Given the description of an element on the screen output the (x, y) to click on. 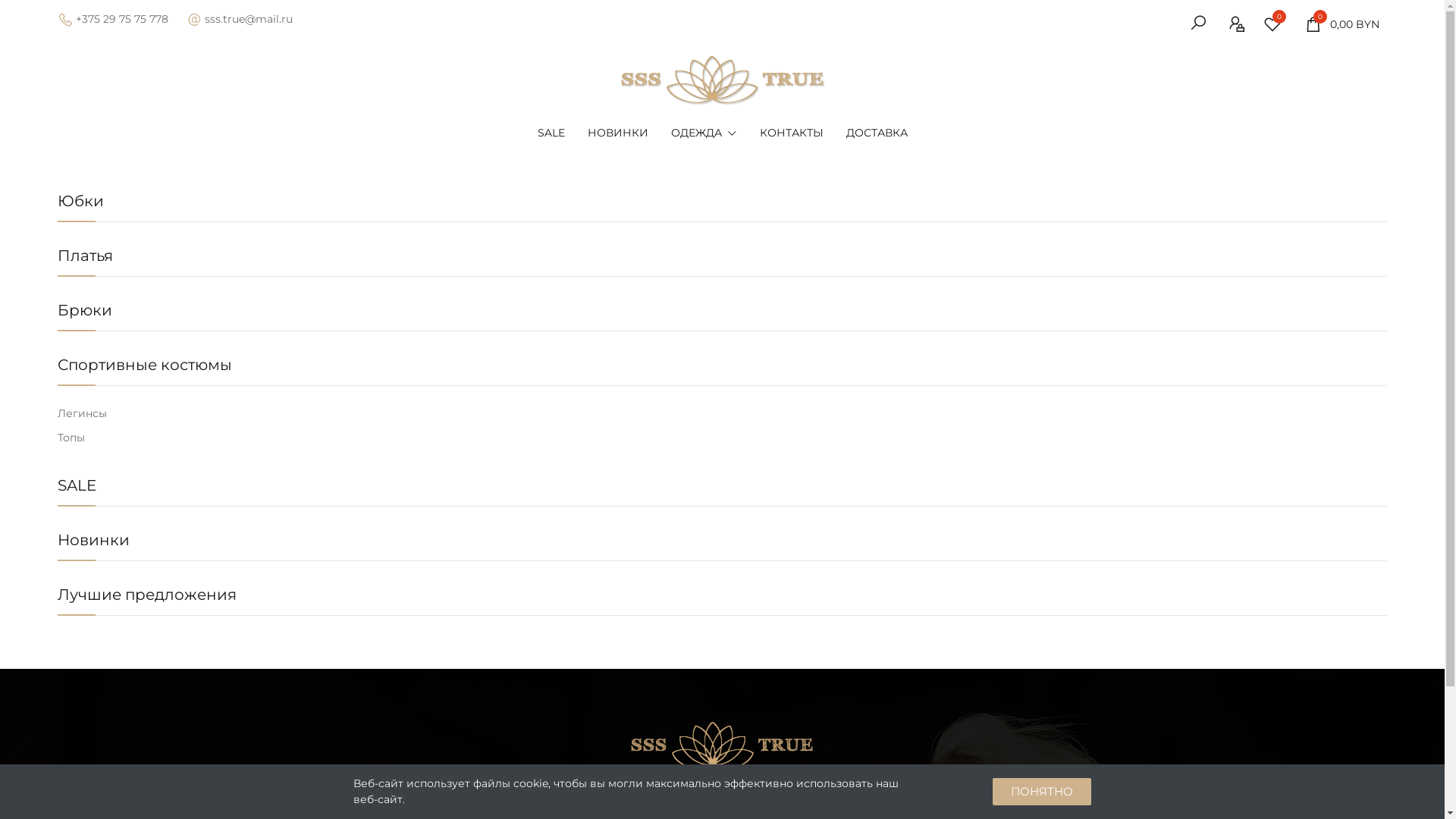
SALE Element type: text (76, 485)
0 Element type: text (1276, 23)
SALE Element type: text (551, 132)
